Given the description of an element on the screen output the (x, y) to click on. 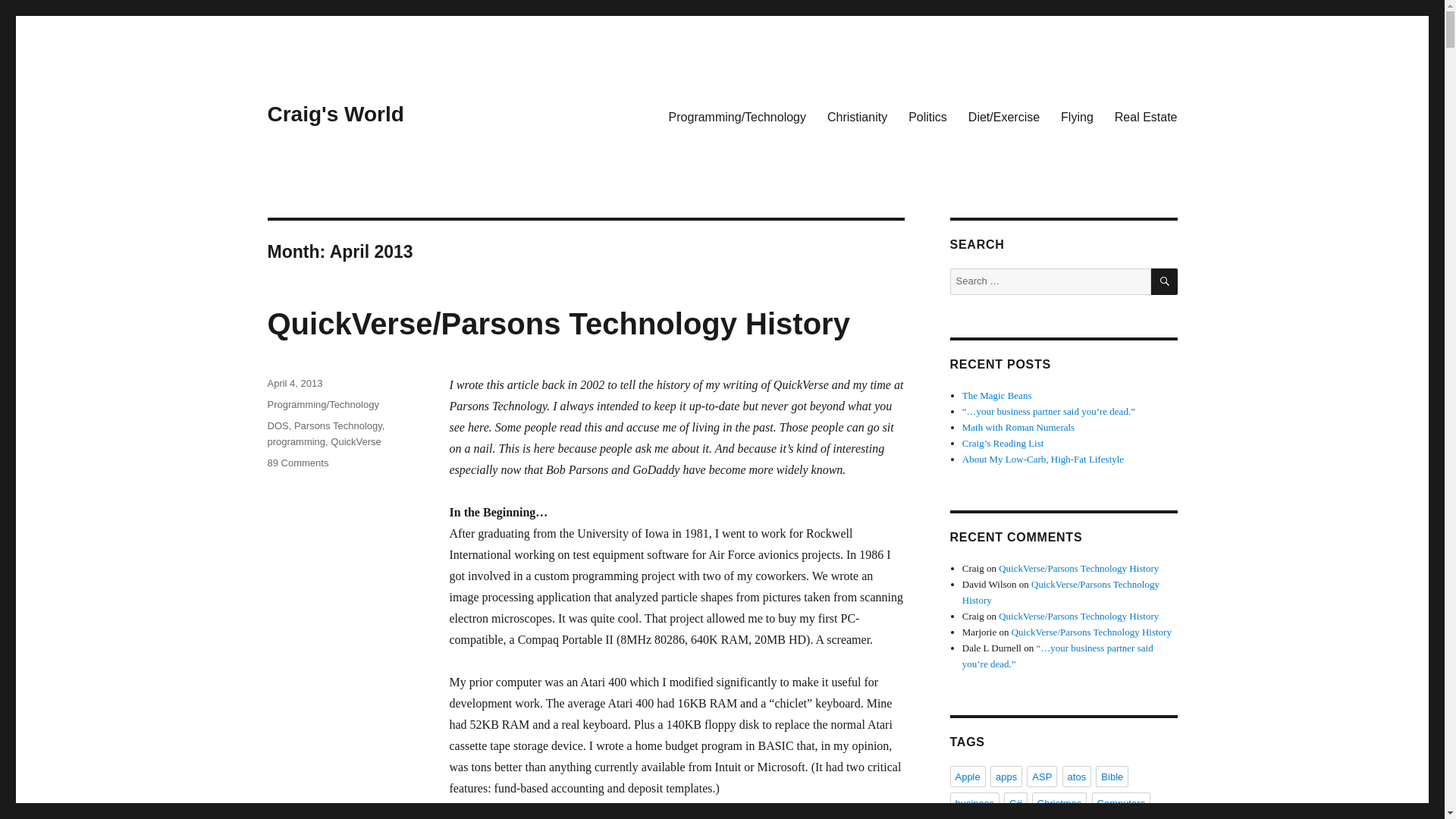
Parsons Technology (337, 425)
Apple (967, 776)
DOS (277, 425)
programming (295, 441)
Bible (1112, 776)
SEARCH (1164, 281)
Flying (1076, 116)
April 4, 2013 (293, 383)
About My Low-Carb, High-Fat Lifestyle (1043, 459)
Craig's World (334, 114)
Christianity (857, 116)
Real Estate (1145, 116)
business (973, 803)
apps (1006, 776)
Computers (1121, 803)
